Given the description of an element on the screen output the (x, y) to click on. 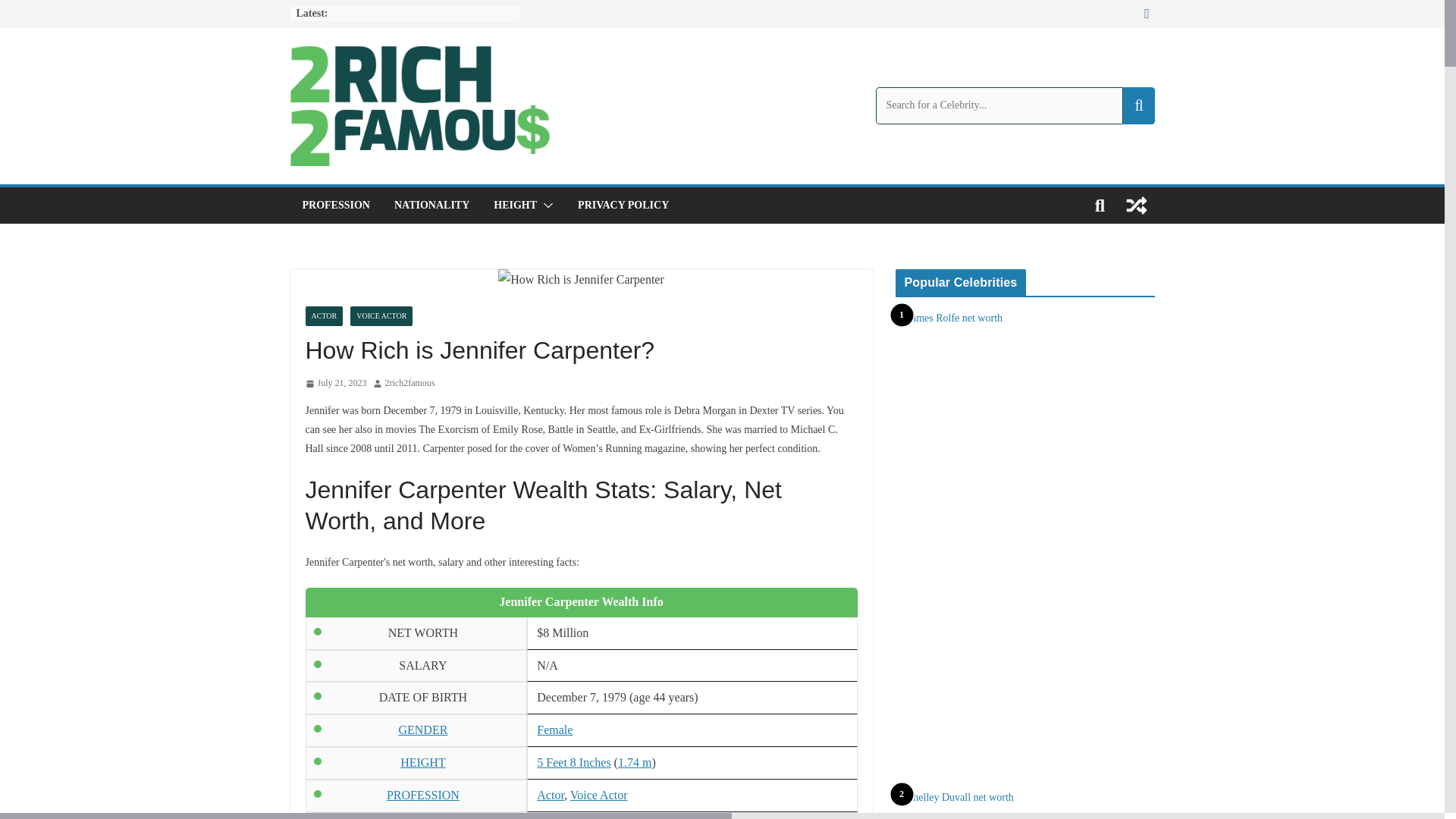
PRIVACY POLICY (623, 205)
1.74 m (633, 762)
2rich2famous (410, 383)
July 21, 2023 (335, 383)
Female (554, 729)
View a random post (1136, 205)
GENDER (421, 729)
8:00 pm (335, 383)
Voice Actor (598, 794)
PROFESSION (423, 794)
PROFESSION (335, 205)
ACTOR (323, 315)
VOICE ACTOR (381, 315)
HEIGHT (422, 762)
Actor (550, 794)
